Given the description of an element on the screen output the (x, y) to click on. 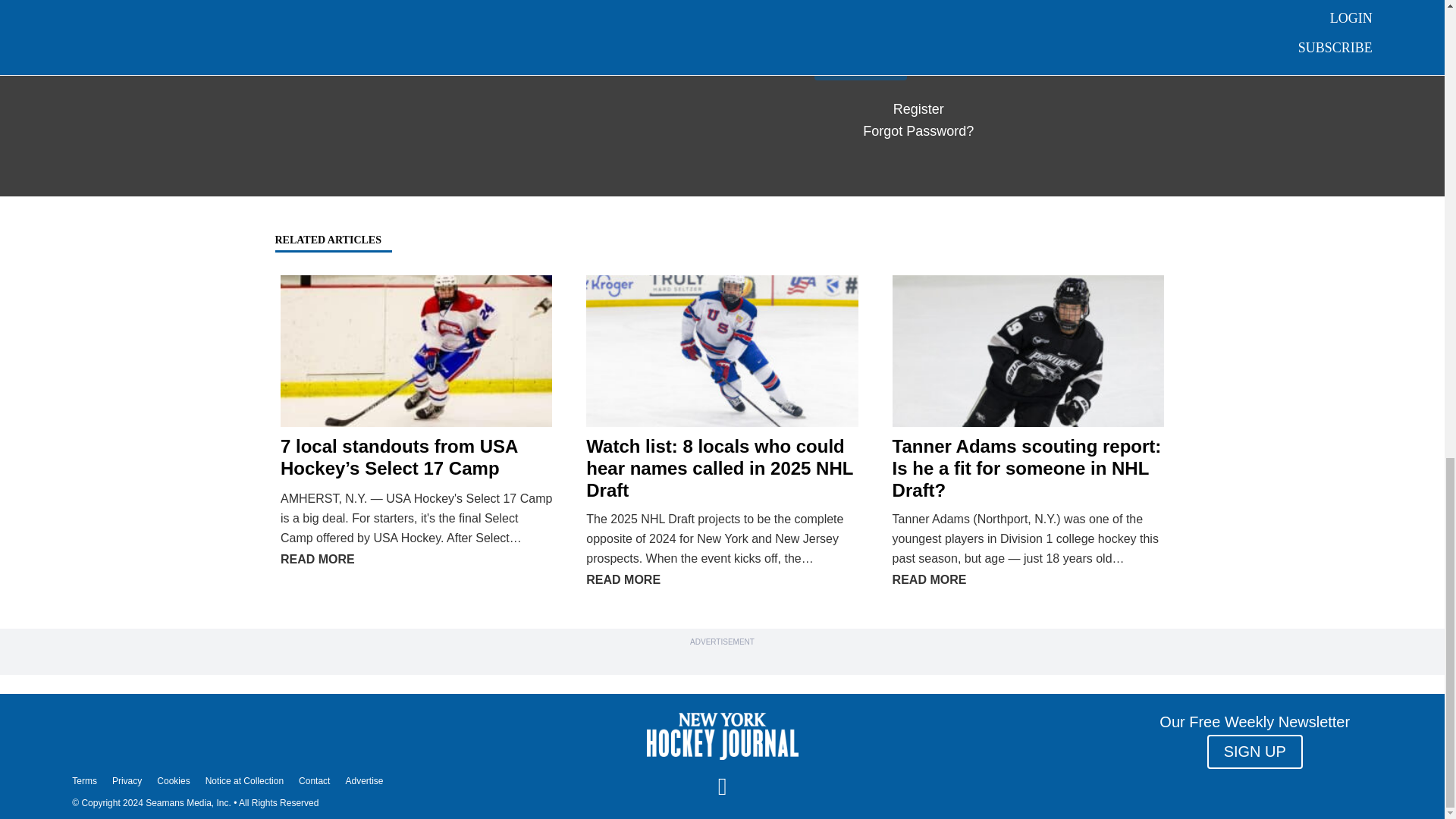
Forgot Password? (918, 130)
Forgot Password? (918, 130)
Notice at Collection (244, 780)
Advertise (363, 780)
Login (860, 62)
1 (918, 17)
Register (918, 109)
READ MORE (623, 579)
READ MORE (318, 558)
Privacy (126, 780)
Contact (314, 780)
Register (918, 109)
Login (860, 62)
Terms (84, 780)
